Given the description of an element on the screen output the (x, y) to click on. 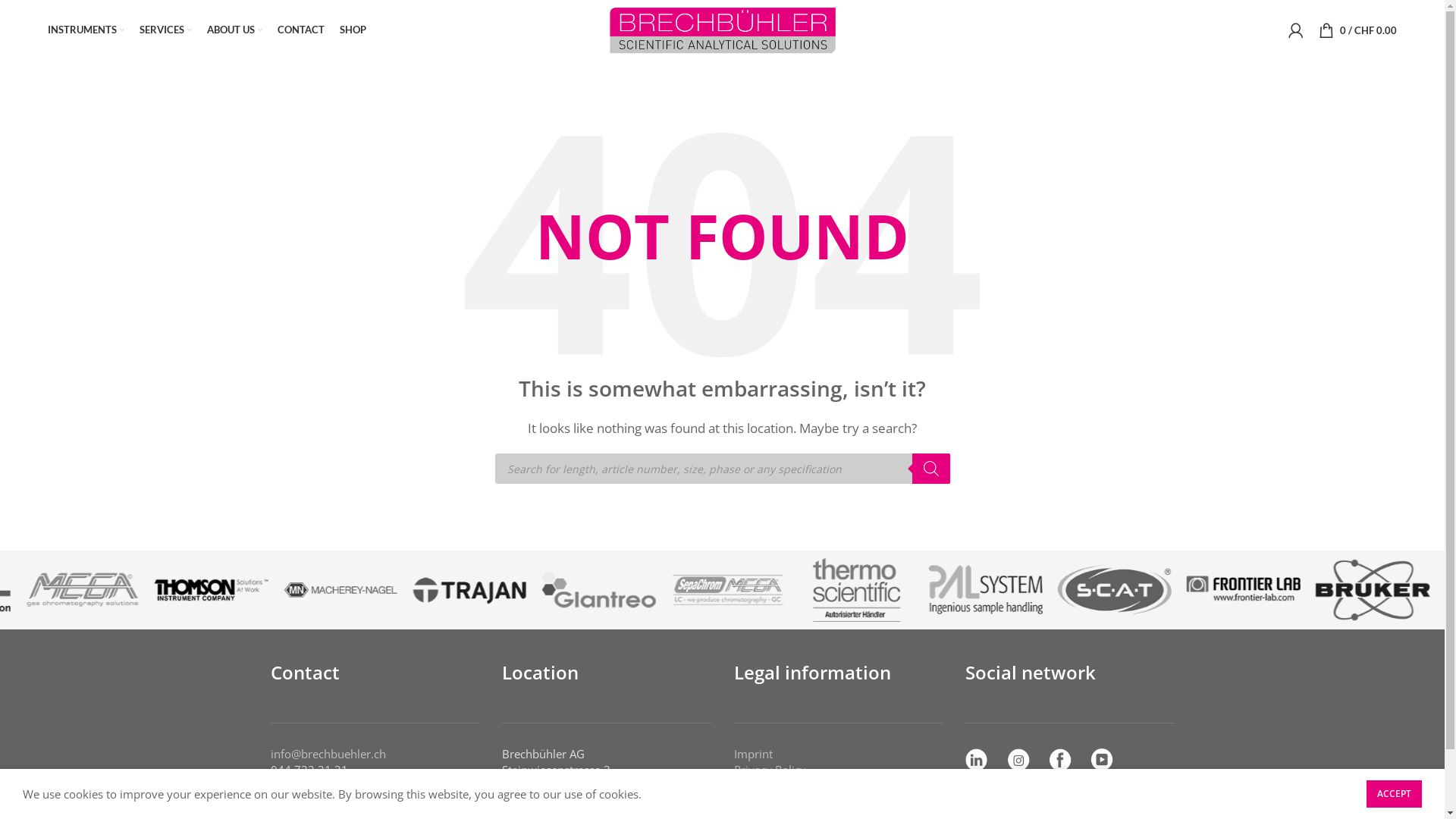
SHOP Element type: text (352, 30)
ABOUT US Element type: text (234, 30)
ACCEPT Element type: text (1393, 793)
STC Element type: text (743, 785)
CONTACT Element type: text (300, 30)
My account Element type: hover (1295, 30)
info@brechbuehler.ch Element type: text (327, 753)
0 / CHF 0.00 Element type: text (1357, 30)
Imprint Element type: text (753, 753)
SERVICES Element type: text (165, 30)
Privacy Policy Element type: text (770, 769)
INSTRUMENTS Element type: text (85, 30)
